Given the description of an element on the screen output the (x, y) to click on. 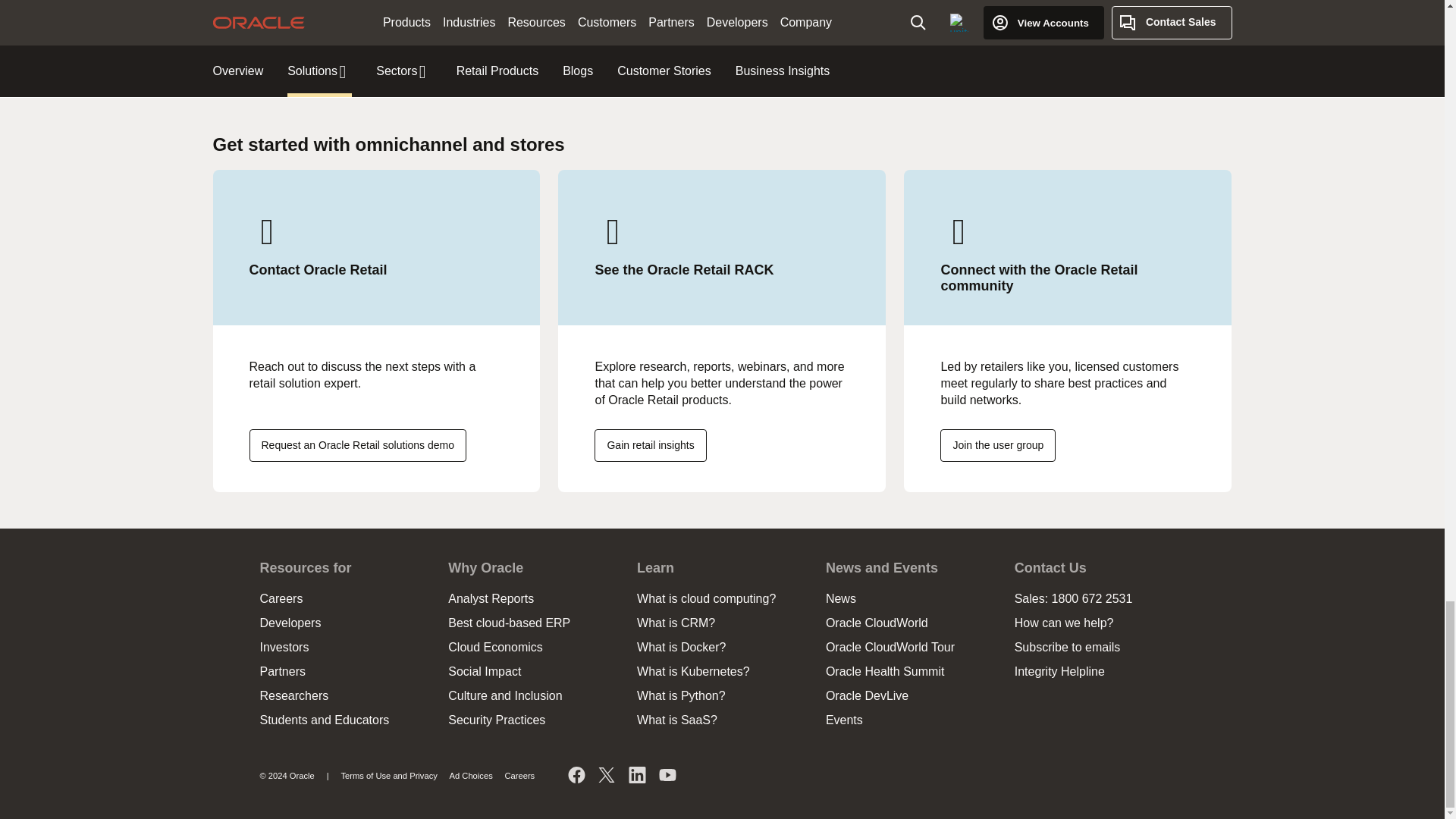
Request a demo (356, 445)
